Given the description of an element on the screen output the (x, y) to click on. 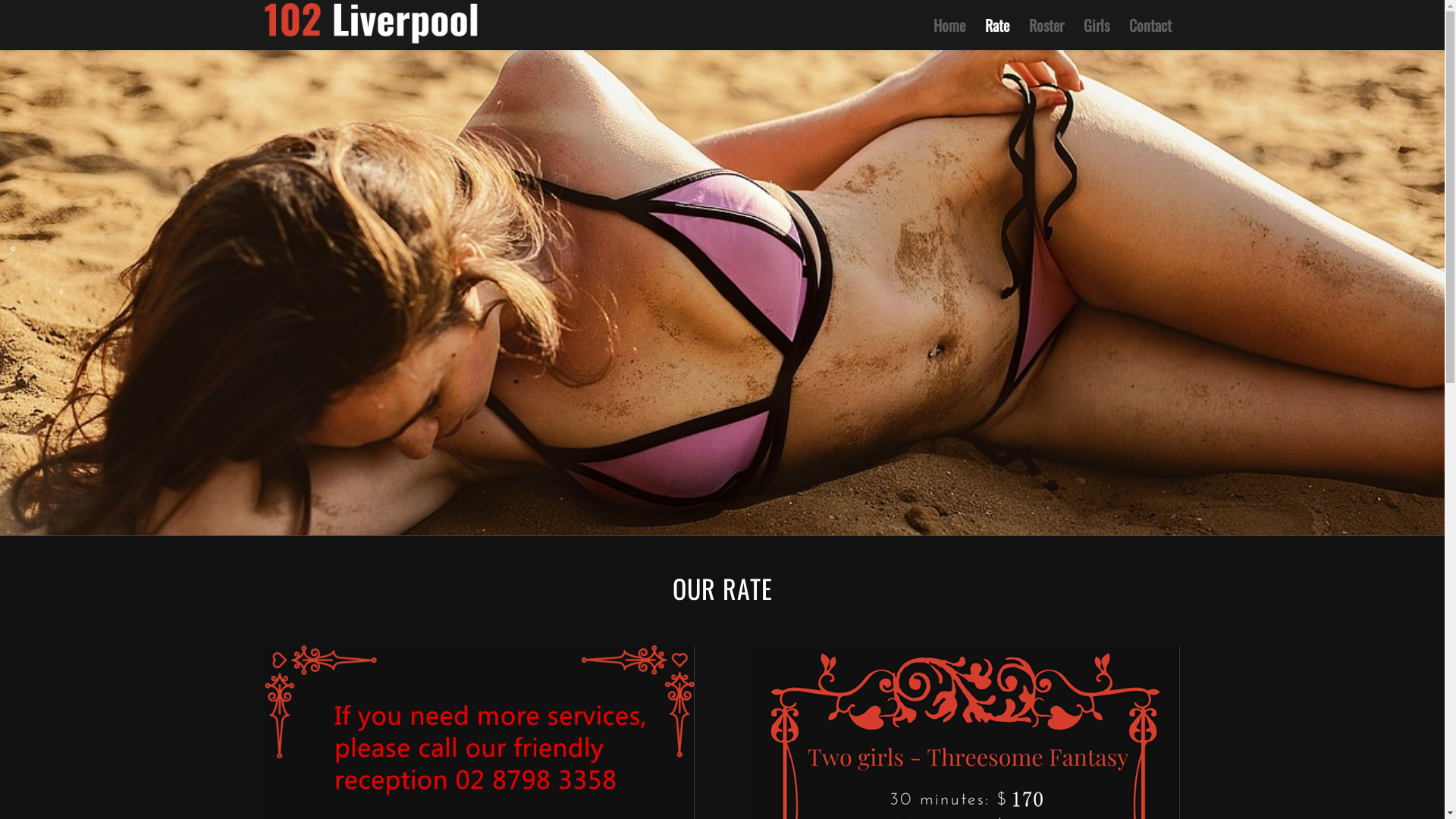
Girls Element type: text (1096, 25)
Rate Element type: text (997, 25)
Contact Element type: text (1150, 25)
Roster Element type: text (1046, 25)
beach-1928070_1280 Element type: hover (722, 292)
Home Element type: text (949, 25)
